Given the description of an element on the screen output the (x, y) to click on. 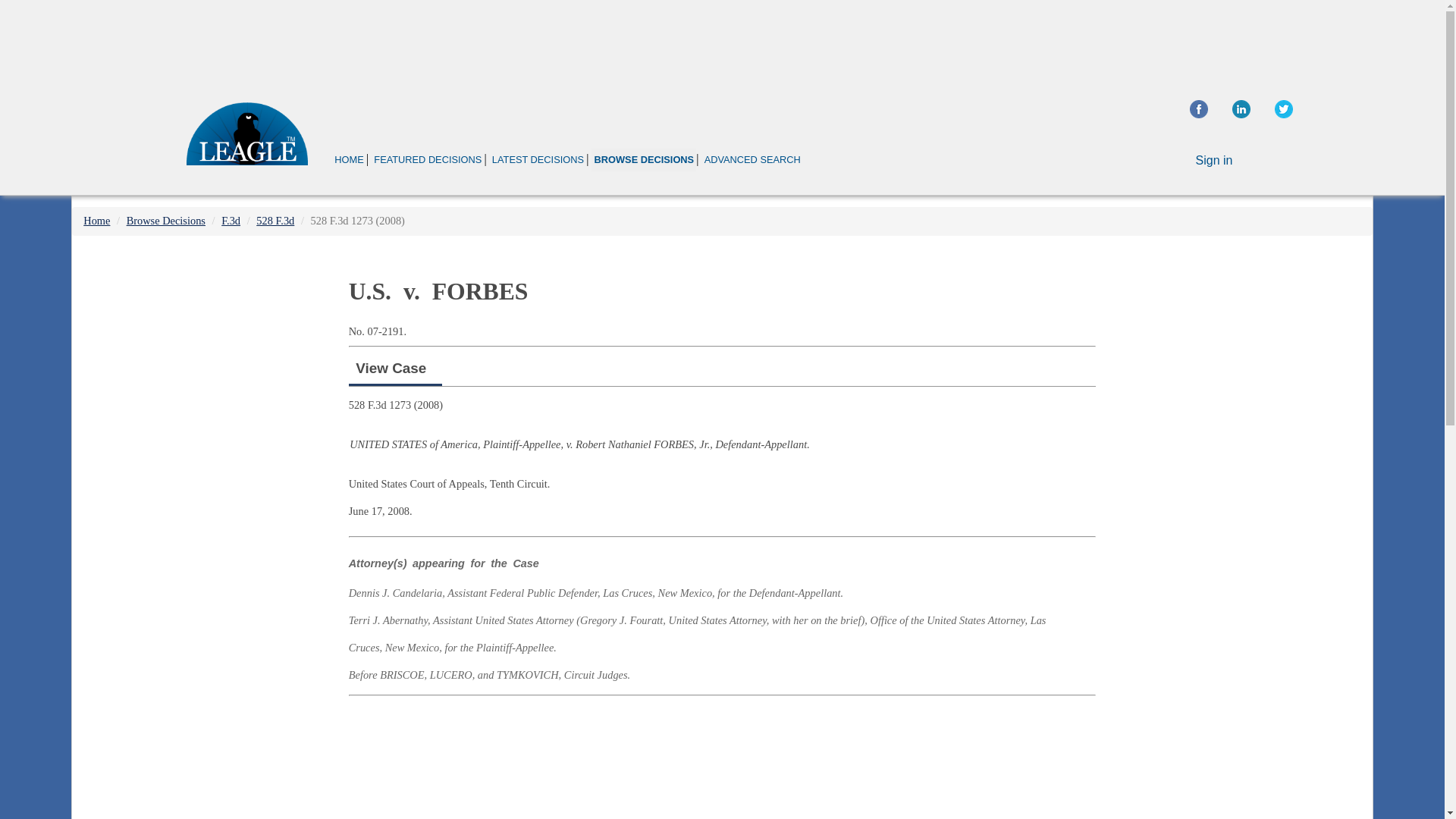
ADVANCED SEARCH (752, 159)
BROWSE DECISIONS (643, 159)
FEATURED DECISIONS (427, 159)
LATEST DECISIONS (537, 159)
HOME (348, 159)
Advertisement (721, 41)
Advertisement (722, 760)
Sign in (1214, 160)
Advertisement (1242, 356)
Home (96, 220)
View Case (390, 367)
F.3d (230, 220)
Browse Decisions (165, 220)
528 F.3d (275, 220)
